Given the description of an element on the screen output the (x, y) to click on. 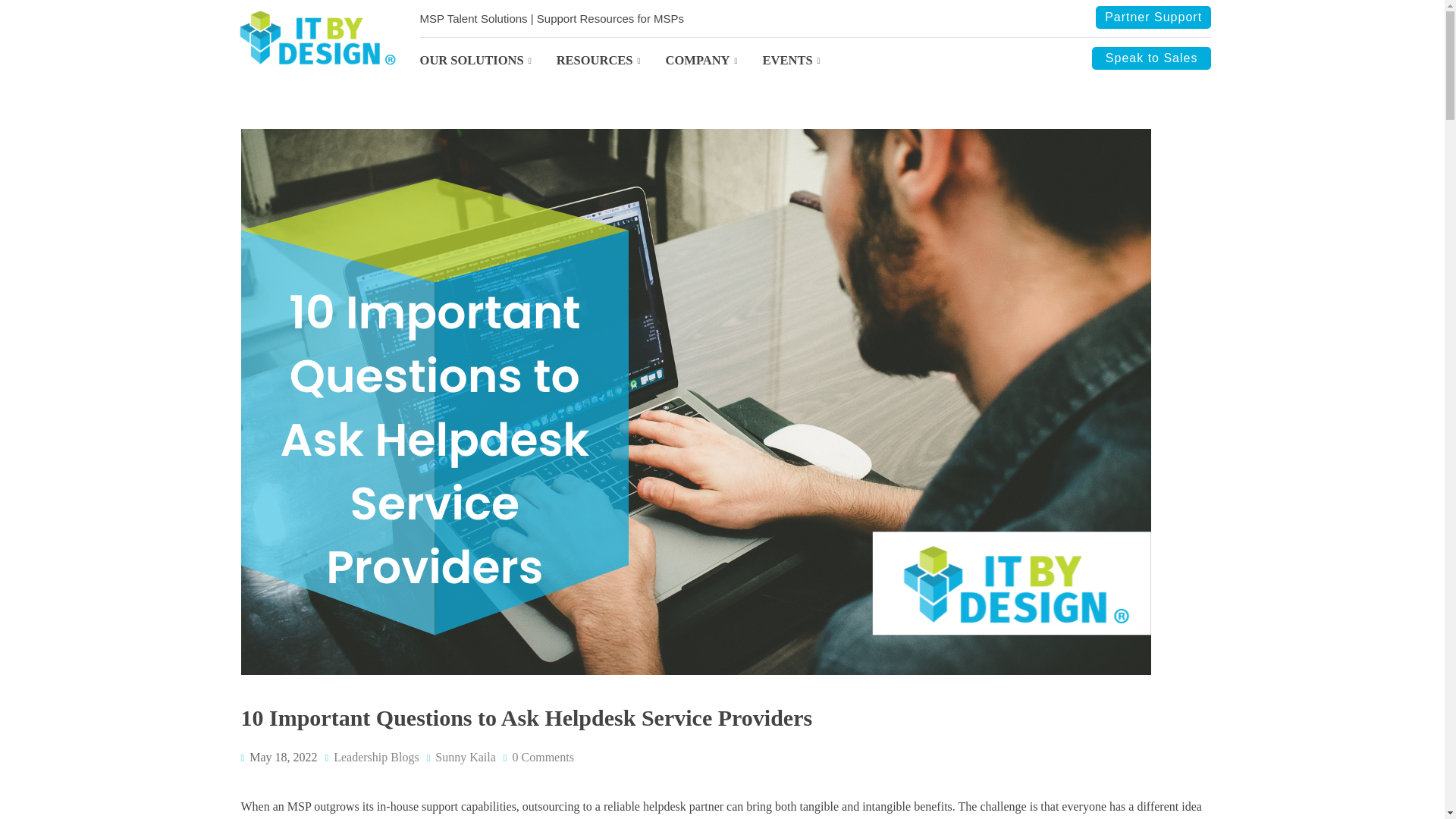
COMPANY (713, 60)
OUR SOLUTIONS (488, 60)
Partner Support (1153, 16)
EVENTS (803, 60)
Chat Widget (37, 782)
RESOURCES (610, 60)
